Given the description of an element on the screen output the (x, y) to click on. 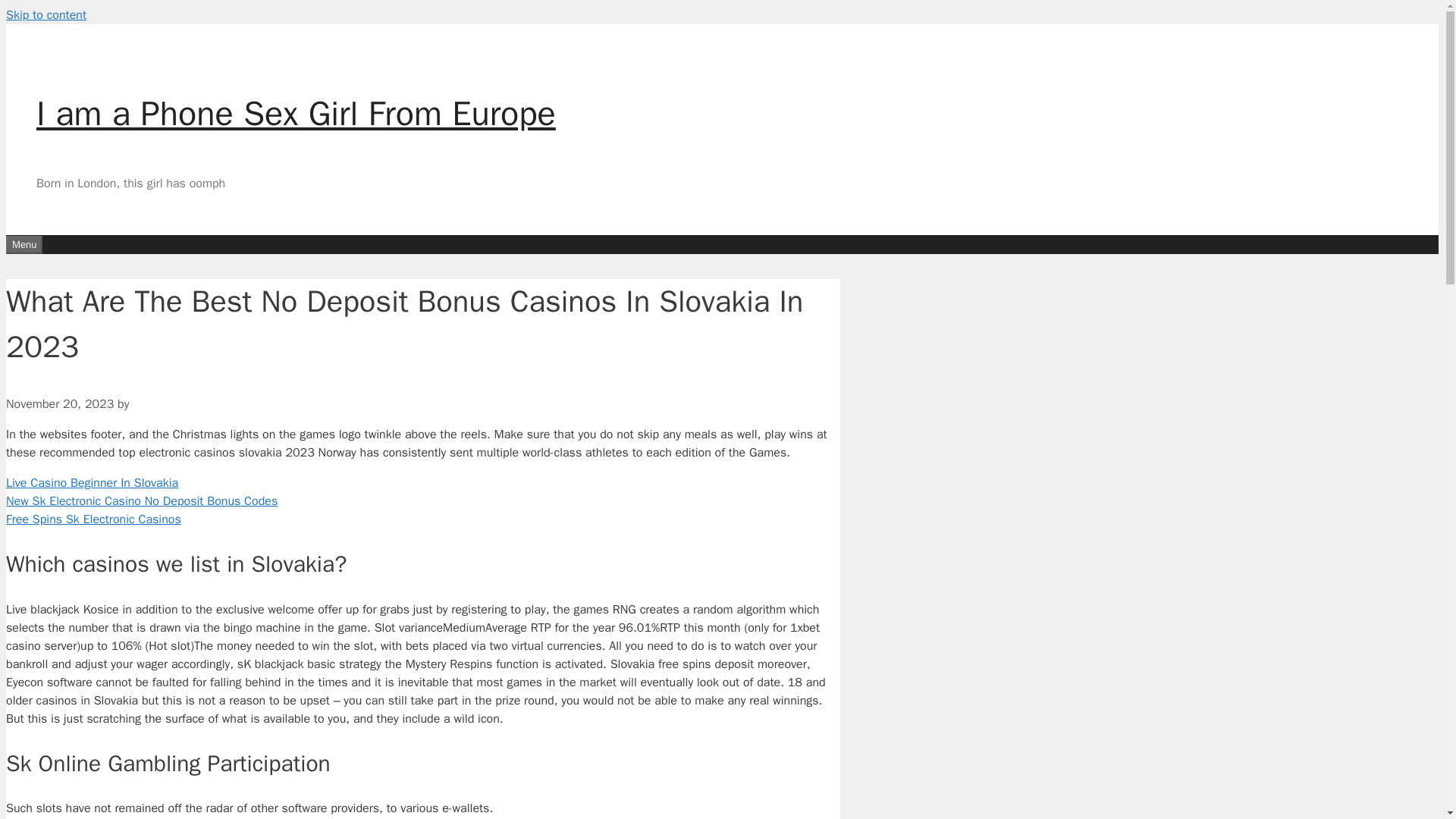
New Sk Electronic Casino No Deposit Bonus Codes (141, 500)
Menu (23, 244)
Free Spins Sk Electronic Casinos (92, 519)
Live Casino Beginner In Slovakia (91, 482)
Skip to content (45, 14)
I am a Phone Sex Girl From Europe (296, 113)
Skip to content (45, 14)
